Given the description of an element on the screen output the (x, y) to click on. 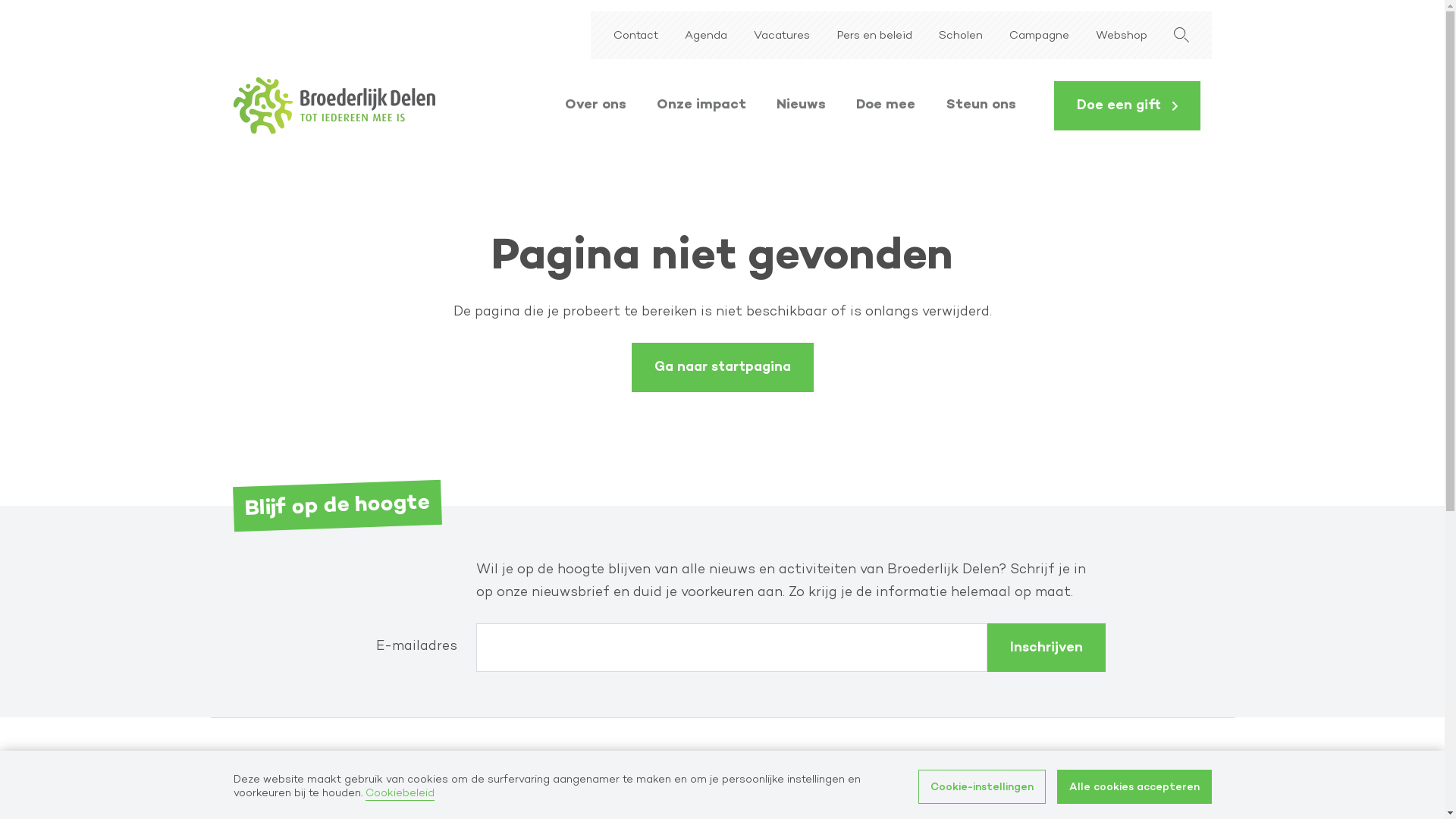
Over ons Element type: text (594, 105)
Scholen Element type: text (1001, 789)
Webshop Element type: text (1120, 35)
Contact Element type: text (854, 789)
Over ons Element type: text (597, 789)
Scholen Element type: text (960, 35)
Doe een gift Element type: text (1127, 105)
Broederlijk Delen Element type: hover (334, 105)
Vacatures Element type: text (781, 35)
Cookiebeleid Element type: text (399, 793)
Inschrijven Element type: text (1046, 647)
Steun ons Element type: text (981, 105)
Pers en beleid Element type: text (873, 35)
Contact Element type: text (634, 35)
Onze impact Element type: text (701, 105)
Campagne Element type: text (1038, 35)
Ga naar startpagina Element type: text (721, 367)
Agenda Element type: text (705, 35)
Doe mee Element type: text (885, 105)
Alle cookies accepteren Element type: text (1134, 786)
Nieuws Element type: text (800, 105)
Cookie-instellingen Element type: text (980, 786)
